Given the description of an element on the screen output the (x, y) to click on. 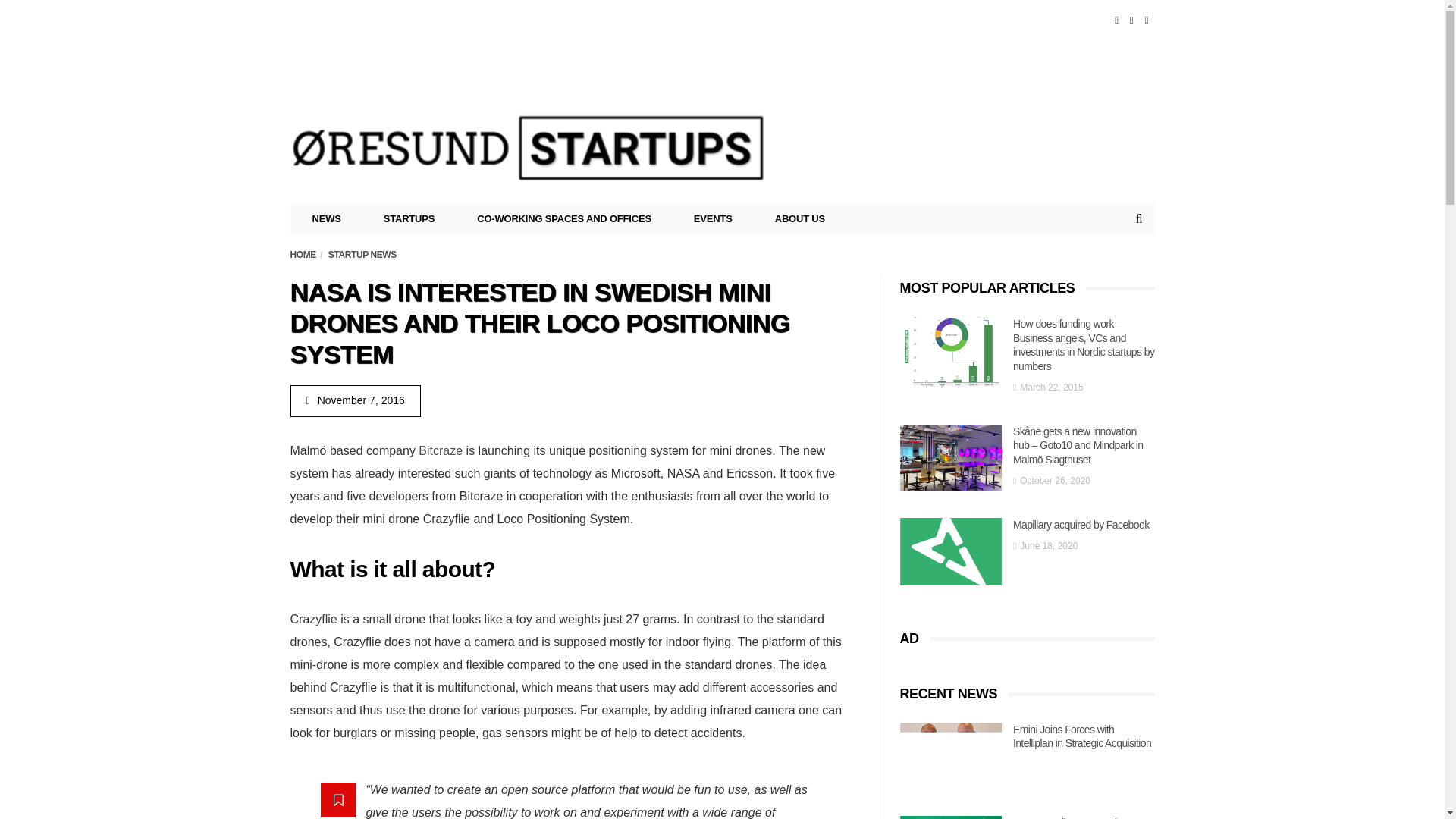
NEWS (326, 218)
STARTUPS (409, 218)
Bitcraze (441, 450)
ABOUT US (799, 218)
EVENTS (713, 218)
HOME (302, 254)
STARTUP NEWS (362, 254)
CO-WORKING SPACES AND OFFICES (563, 218)
Emini Joins Forces with Intelliplan in Strategic Acquisition (950, 756)
Mapillary acquired by Facebook (950, 551)
